Given the description of an element on the screen output the (x, y) to click on. 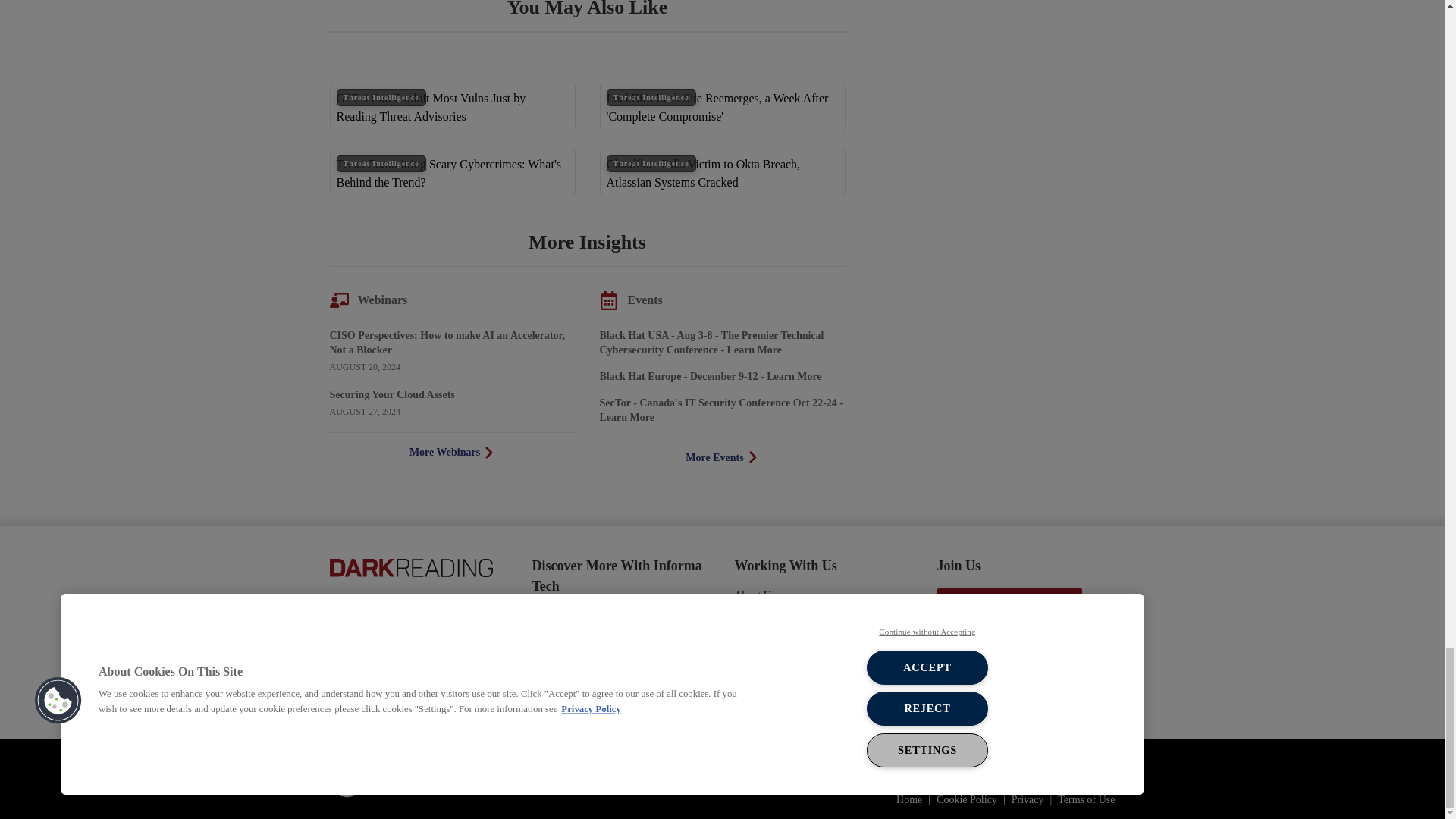
Logo (410, 566)
Informa Tech (404, 778)
